Given the description of an element on the screen output the (x, y) to click on. 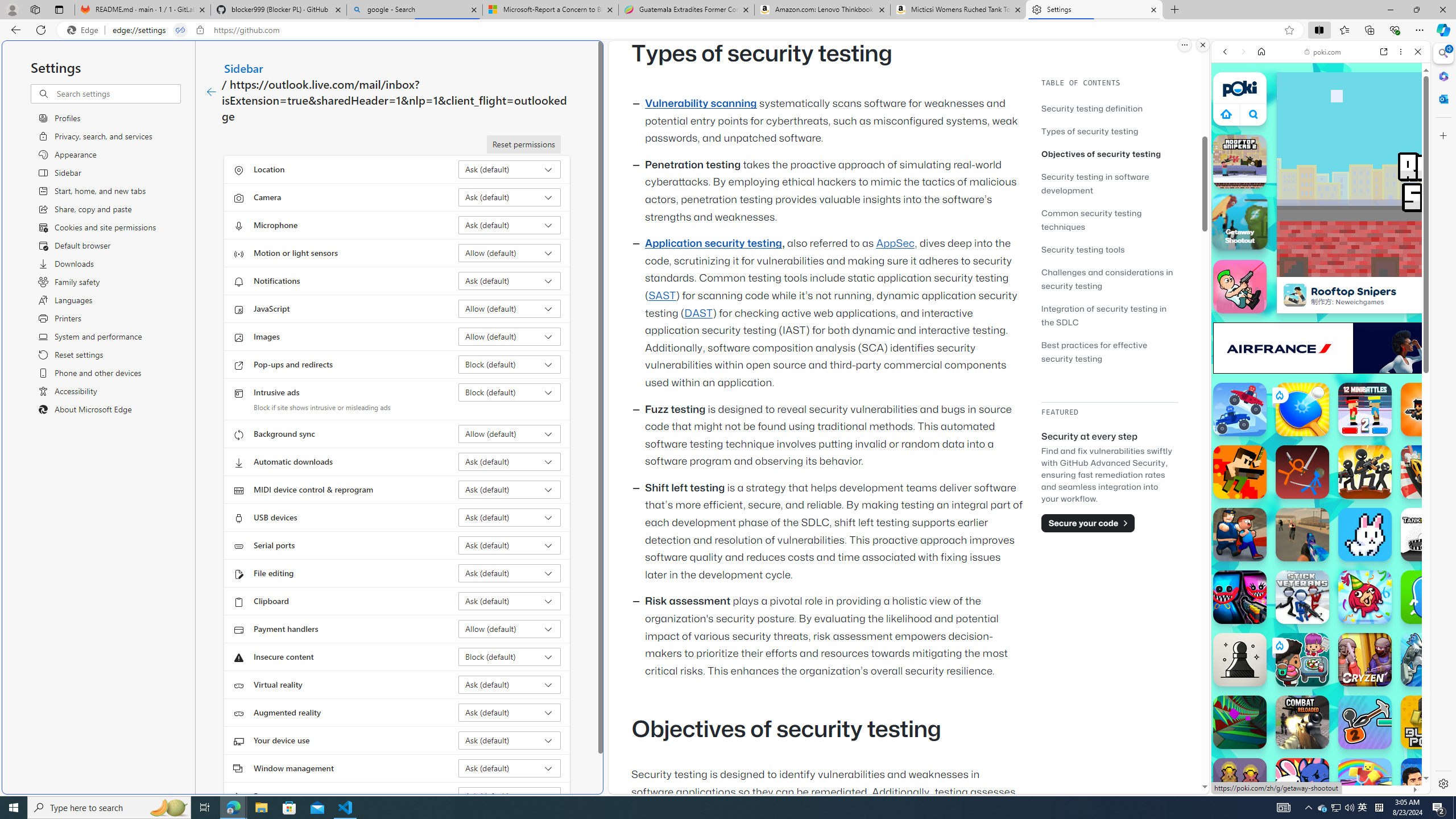
Goober World Goober World (1427, 597)
Crazy Cars Crazy Cars (1427, 471)
Class: B_5ykBA46kDOxiz_R9wm (1253, 113)
Zombie Rush (1427, 409)
Integration of security testing in the SDLC (1109, 315)
Fonts Ask (default) (509, 796)
Edge (84, 29)
Common security testing techniques (1109, 219)
Blockpost (1427, 722)
